Given the description of an element on the screen output the (x, y) to click on. 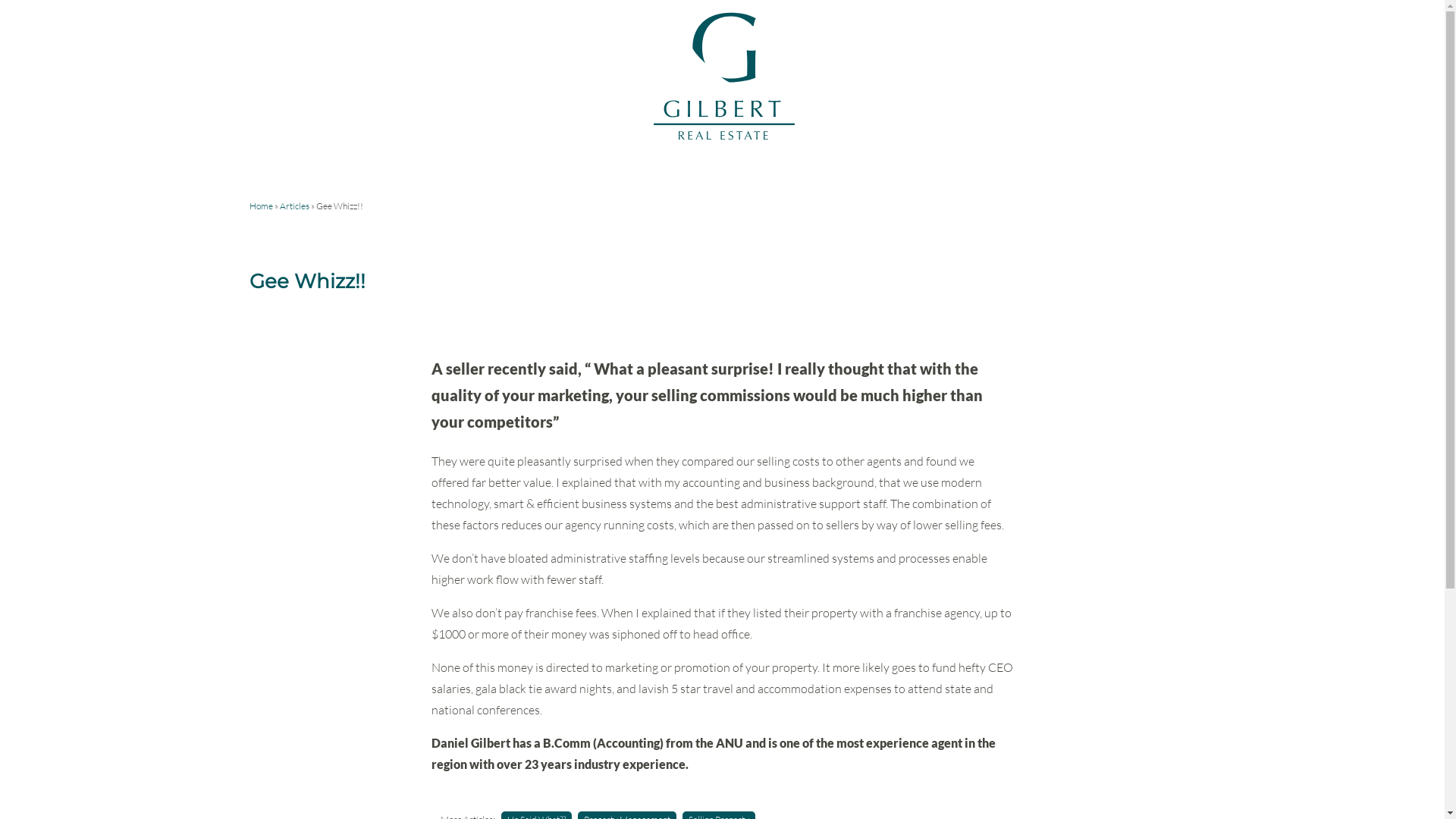
Home Element type: text (260, 205)
Gilbert Real Estate Element type: text (721, 137)
Articles Element type: text (293, 205)
